Given the description of an element on the screen output the (x, y) to click on. 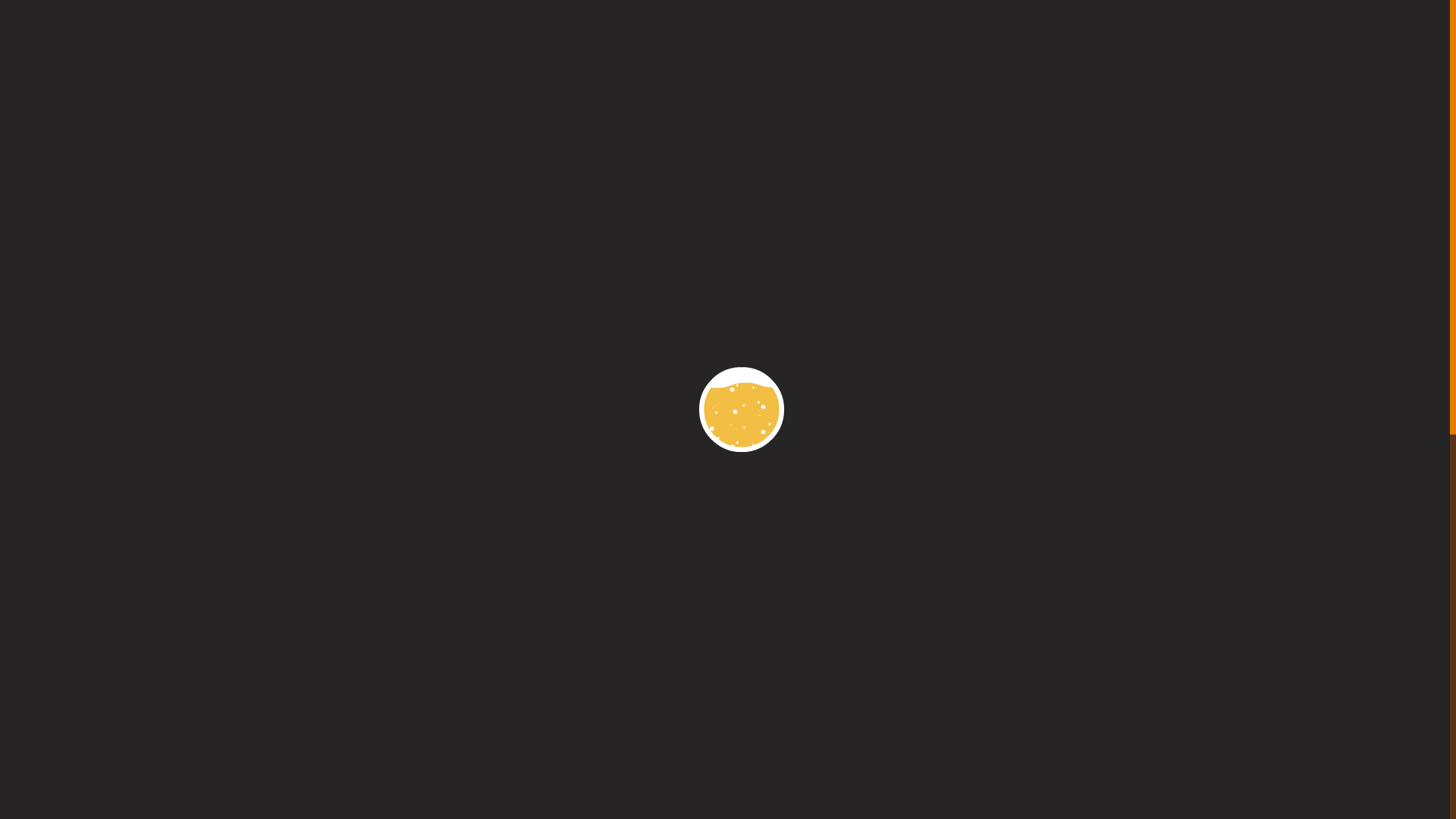
Accepteer geselecteerde cookies Element type: text (1340, 799)
CADEAUBON Element type: text (654, 127)
Winkelwagen Element type: hover (1147, 54)
SALE Element type: text (730, 127)
contact Element type: text (640, 201)
Taal Element type: hover (1074, 126)
Untappd Element type: text (318, 749)
LAATSTE STUKS Element type: text (817, 127)
Omschrijving Element type: text (353, 708)
BIERPAKKETTEN Element type: text (542, 127)
over ons Element type: text (567, 201)
BIER Element type: text (455, 127)
BIER VAN DE WEEK Element type: text (950, 127)
mijn account Element type: text (480, 201)
verzenden & afhalen Element type: text (745, 201)
Zoeken Element type: hover (894, 52)
Privacy Policy Element type: text (511, 800)
Verlanglijstje Element type: hover (1107, 54)
beoordelingen Element type: text (971, 201)
veilig betalen Element type: text (865, 201)
Trefwoorden Element type: text (354, 725)
HOME Element type: text (401, 127)
